Given the description of an element on the screen output the (x, y) to click on. 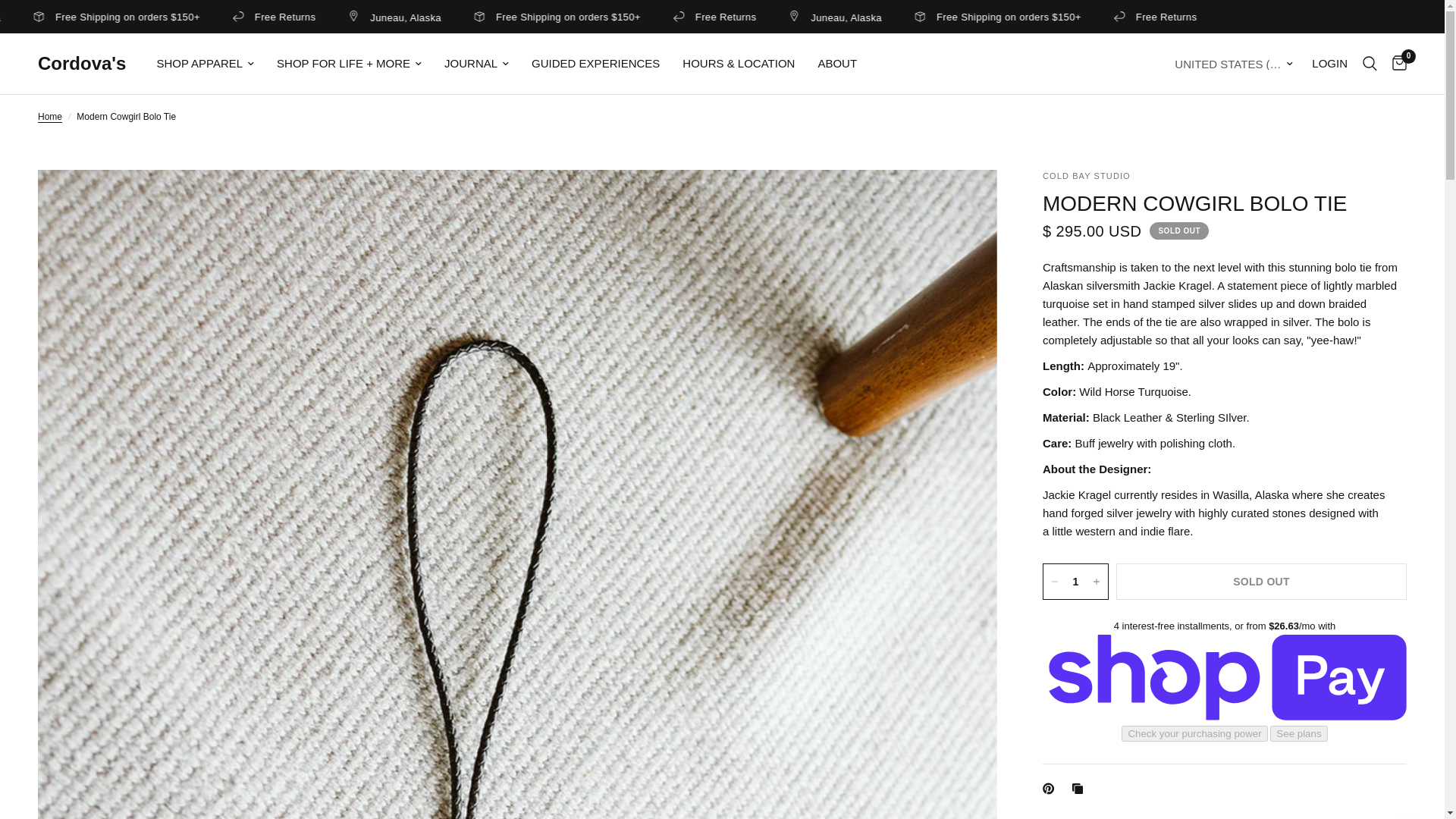
Juneau, Alaska (98, 16)
Juneau, Alaska (538, 16)
Juneau, Alaska (978, 16)
